Given the description of an element on the screen output the (x, y) to click on. 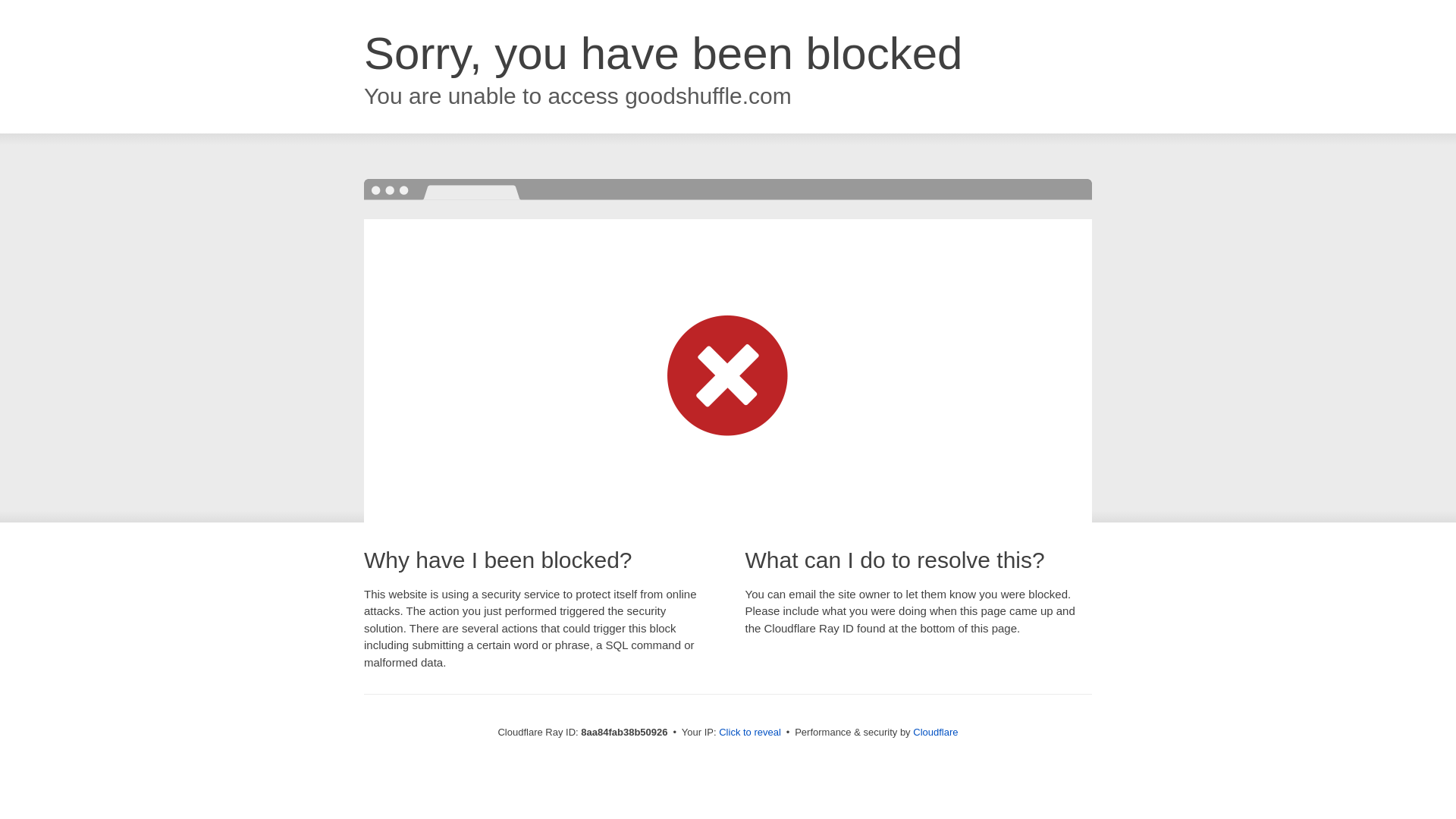
Cloudflare (935, 731)
Click to reveal (749, 732)
